Given the description of an element on the screen output the (x, y) to click on. 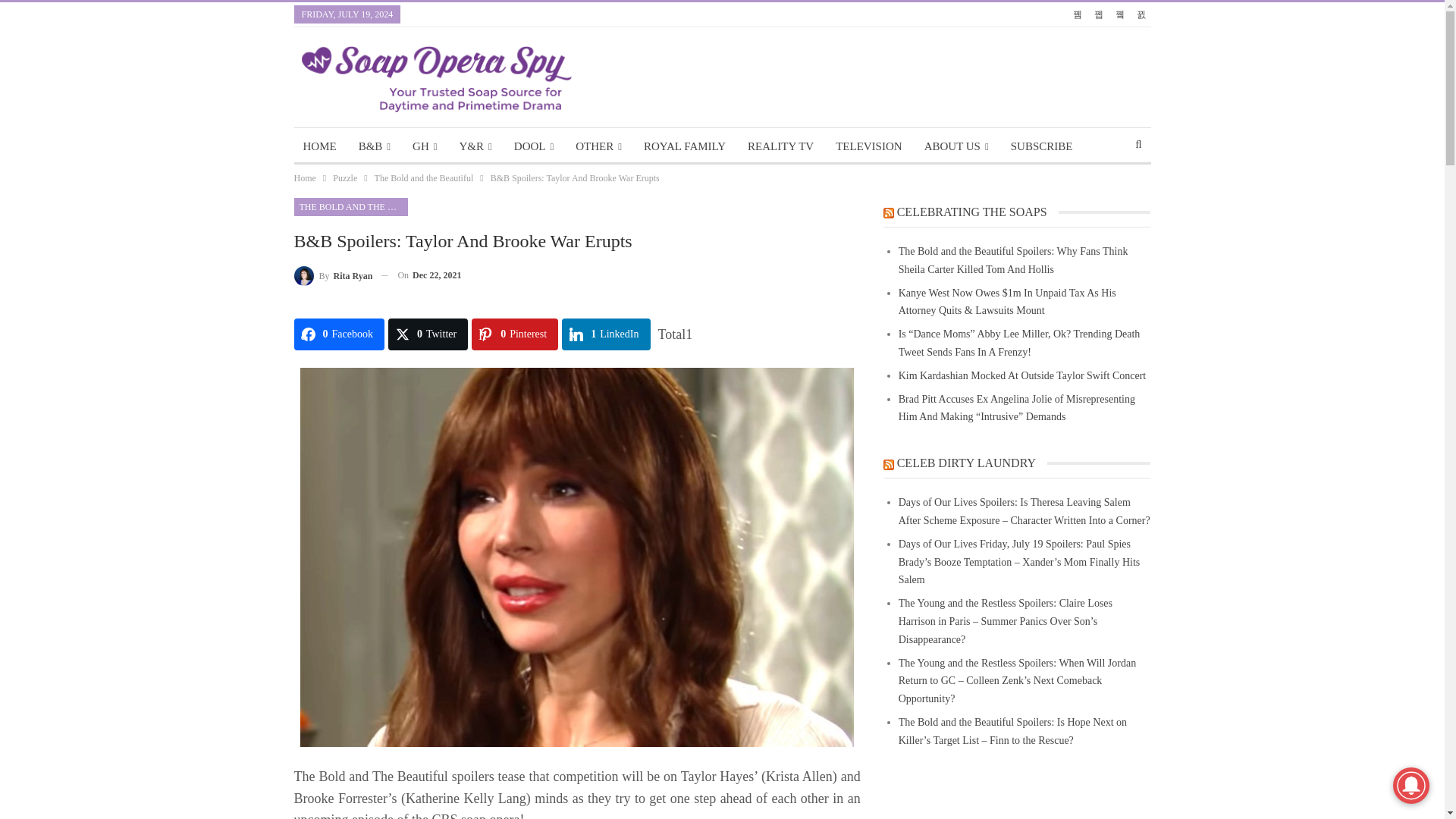
Share on Facebook (339, 334)
Share on LinkedIn (605, 334)
Share on Pinterest (514, 334)
Browse Author Articles (333, 275)
Total (675, 334)
Share on Twitter (427, 334)
